Given the description of an element on the screen output the (x, y) to click on. 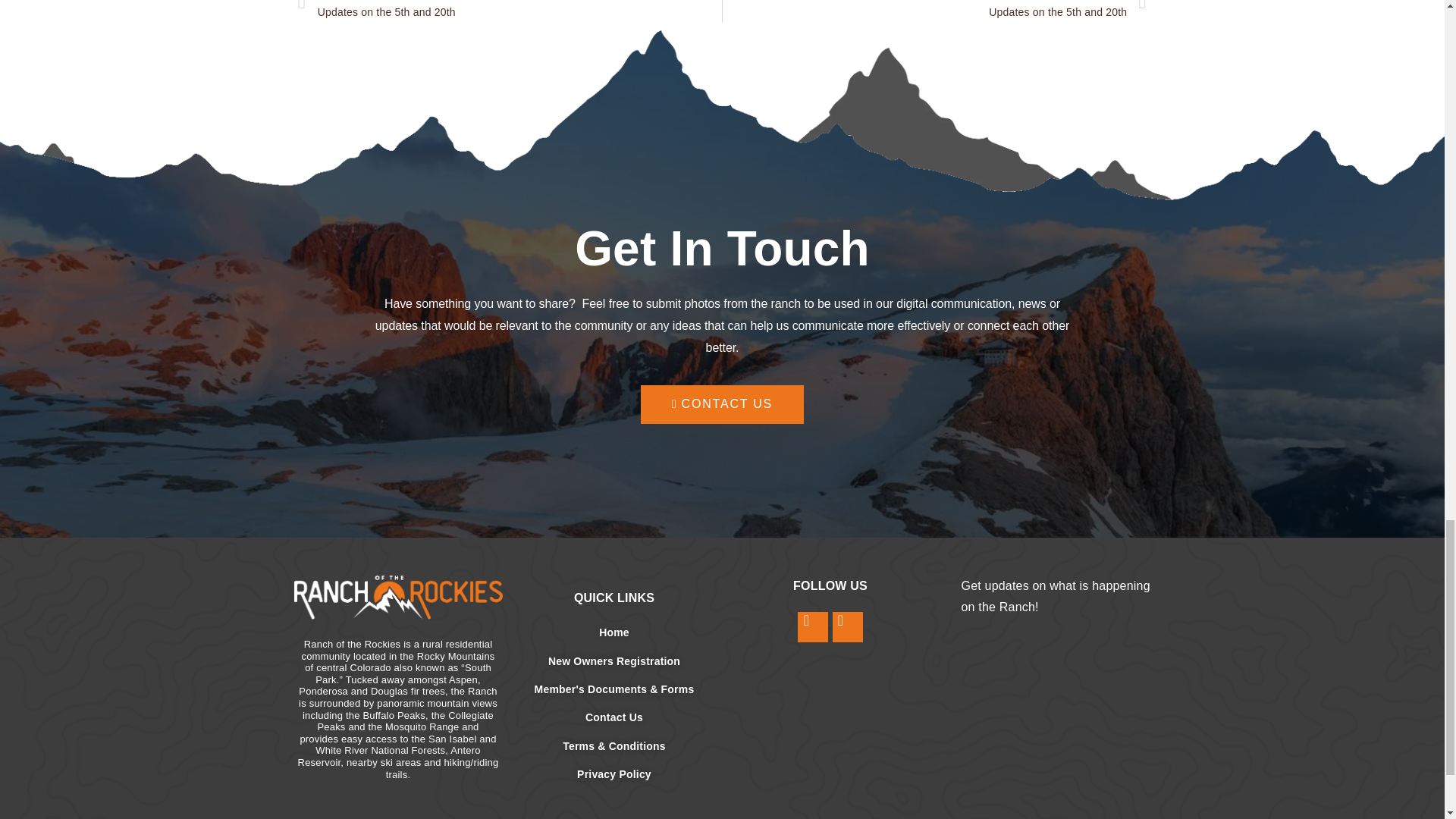
CONTACT US (721, 404)
Privacy Policy (934, 11)
New Owners Registration (613, 773)
Home (509, 11)
Contact Us (613, 660)
